Given the description of an element on the screen output the (x, y) to click on. 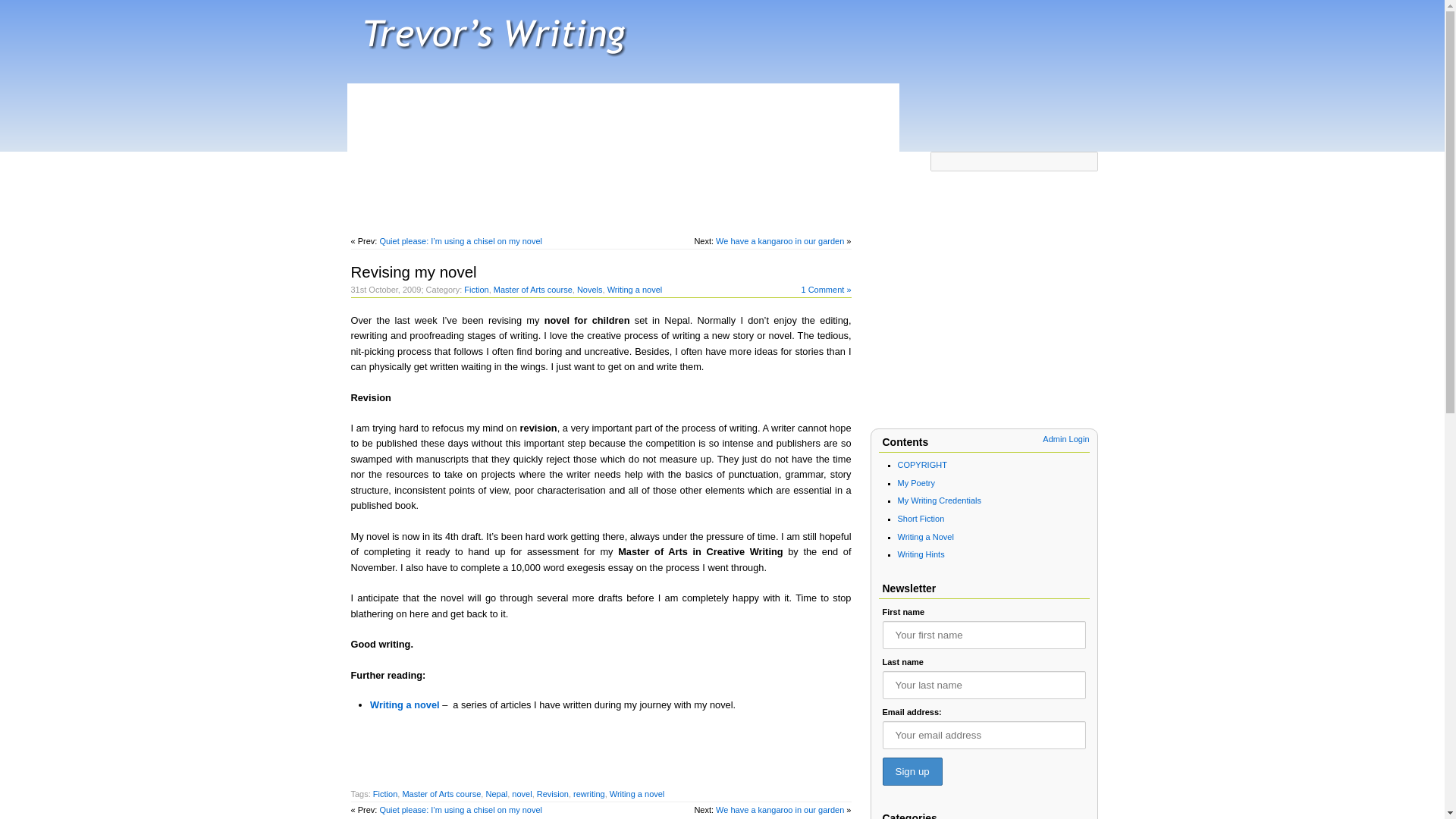
Contact Me (755, 170)
Twitter Archives and Statistics (612, 170)
Writing a novel (637, 793)
Fiction (475, 289)
Search (1085, 182)
COPYRIGHT (922, 464)
Writing a novel (634, 289)
Writing a Novel (925, 536)
Novels (589, 289)
Writing a novel (404, 704)
Sign up (912, 771)
rewriting (589, 793)
Follow TrevorHampel on Twitter (808, 170)
Facebook (836, 170)
Short Fiction (921, 518)
